Given the description of an element on the screen output the (x, y) to click on. 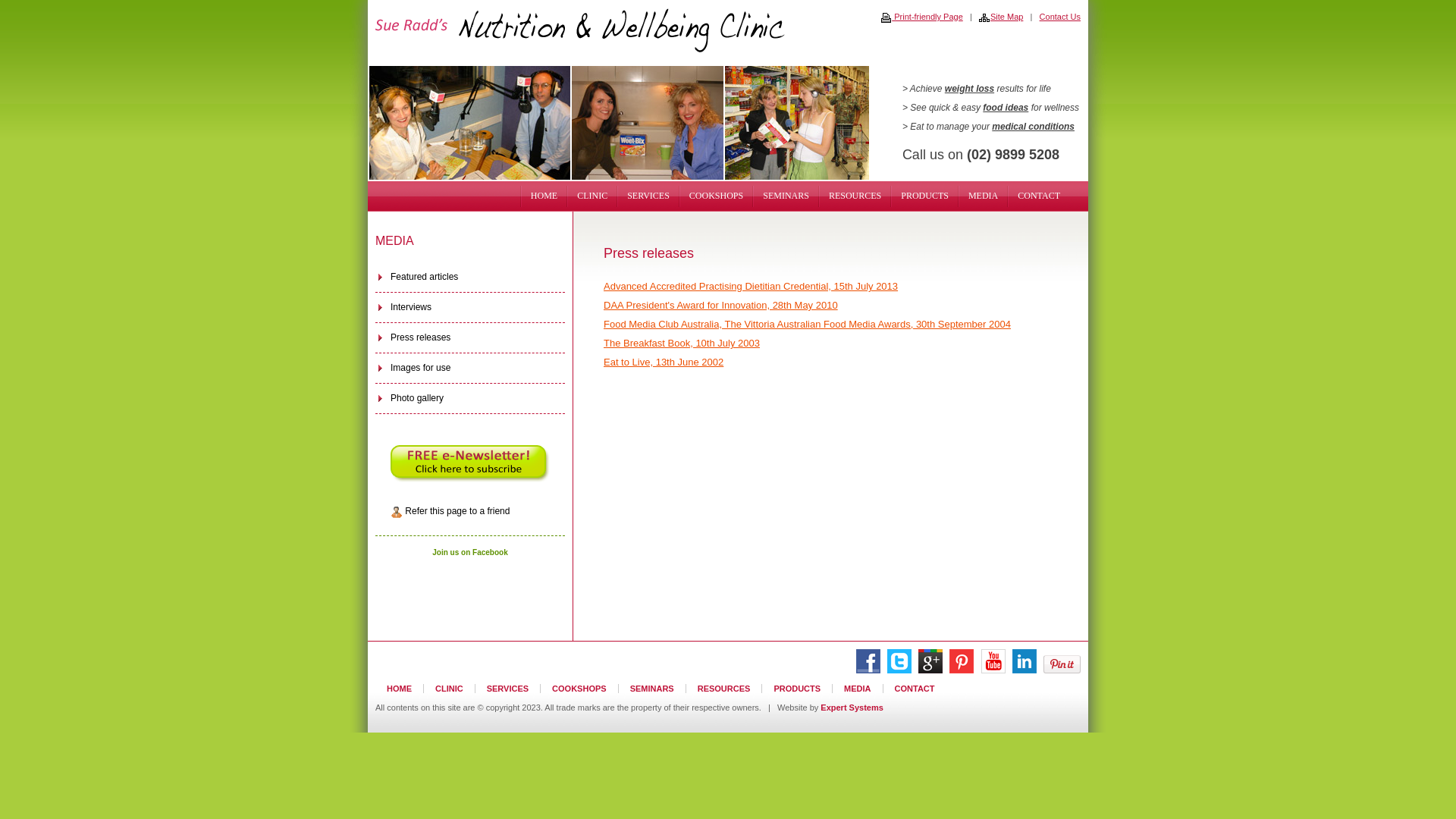
medical conditions Element type: text (1032, 126)
Eat to Live, 13th June 2002 Element type: text (663, 361)
RESOURCES Element type: text (854, 195)
Subscribe to our FREE e-Newsletter Element type: hover (469, 463)
SEMINARS Element type: text (652, 688)
RESOURCES Element type: text (724, 688)
CONTACT Element type: text (1038, 195)
CLINIC Element type: text (591, 195)
SEMINARS Element type: text (785, 195)
Print-friendly Page Element type: text (921, 16)
Refer this page to a friend Element type: text (469, 511)
CLINIC Element type: text (449, 688)
PRODUCTS Element type: text (797, 688)
Visit our Pinterest page Element type: hover (961, 669)
food ideas Element type: text (1005, 107)
MEDIA Element type: text (857, 688)
Visit our Google+ page Element type: hover (930, 669)
HOME Element type: text (399, 688)
Interviews Element type: text (469, 307)
Follow us on Twitter Element type: hover (899, 669)
SERVICES Element type: text (507, 688)
Visit our LinkedIn profile Element type: hover (1024, 669)
Photo gallery Element type: text (469, 398)
DAA President's Award for Innovation, 28th May 2010 Element type: text (720, 304)
HOME Element type: text (543, 195)
SERVICES Element type: text (648, 195)
Contact Us Element type: text (1059, 16)
Expert Systems Element type: text (851, 707)
weight loss Element type: text (969, 88)
PRODUCTS Element type: text (924, 195)
CONTACT Element type: text (914, 688)
Images for use Element type: text (469, 368)
Visit our Youtube channel Element type: hover (993, 669)
COOKSHOPS Element type: text (579, 688)
Press releases Element type: text (469, 338)
The Breakfast Book, 10th July 2003 Element type: text (681, 342)
Site Map Element type: text (1000, 16)
MEDIA Element type: text (983, 195)
Featured articles Element type: text (469, 277)
Visit our Facebook page Element type: hover (868, 669)
COOKSHOPS Element type: text (716, 195)
